Given the description of an element on the screen output the (x, y) to click on. 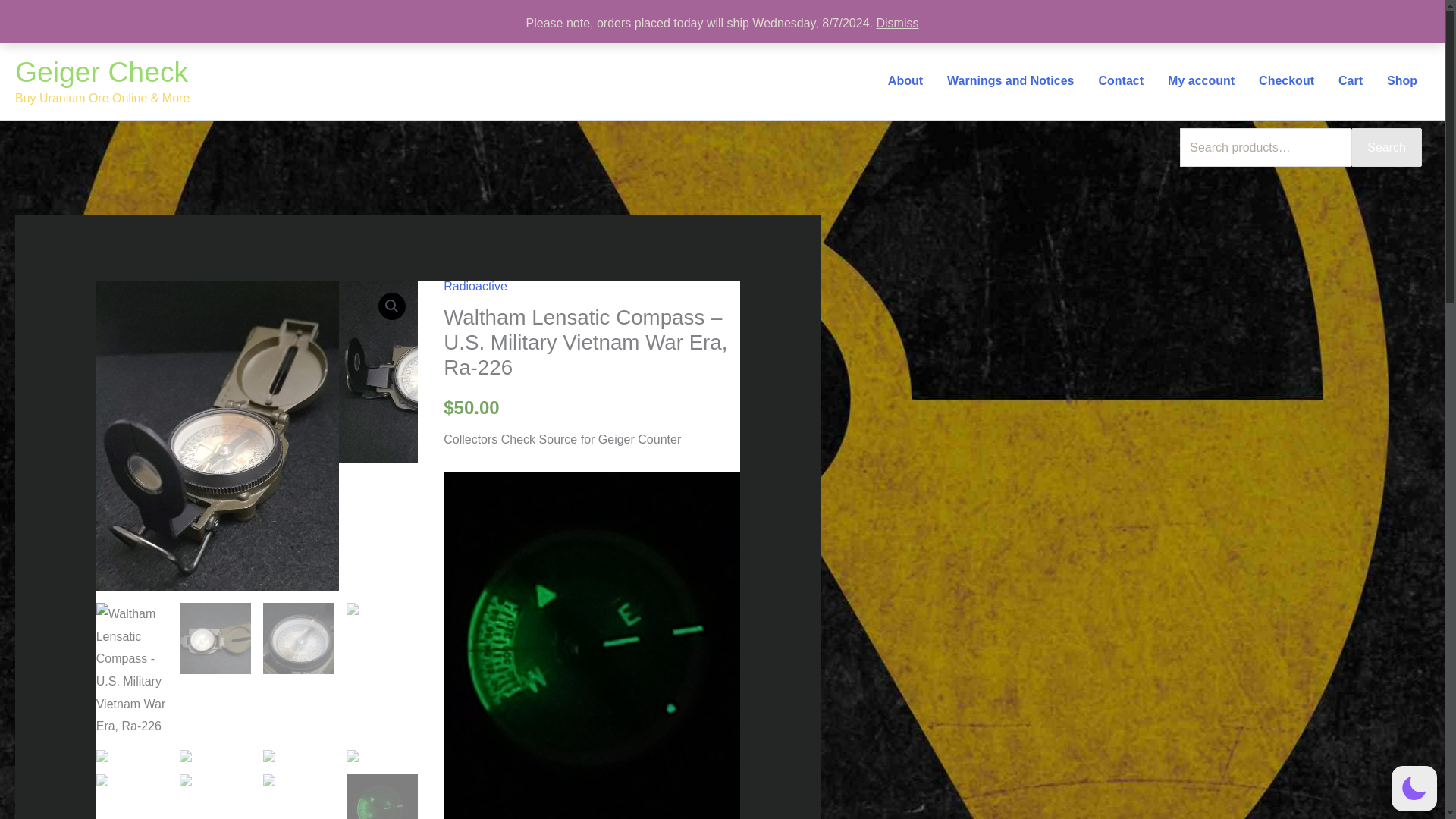
Cart (1350, 80)
Geiger Check (100, 71)
Contact (1121, 80)
Checkout (1286, 80)
Shop (1401, 80)
My account (1201, 80)
Warnings and Notices (1010, 80)
Radioactive (475, 286)
About (905, 80)
Search (1386, 147)
